Given the description of an element on the screen output the (x, y) to click on. 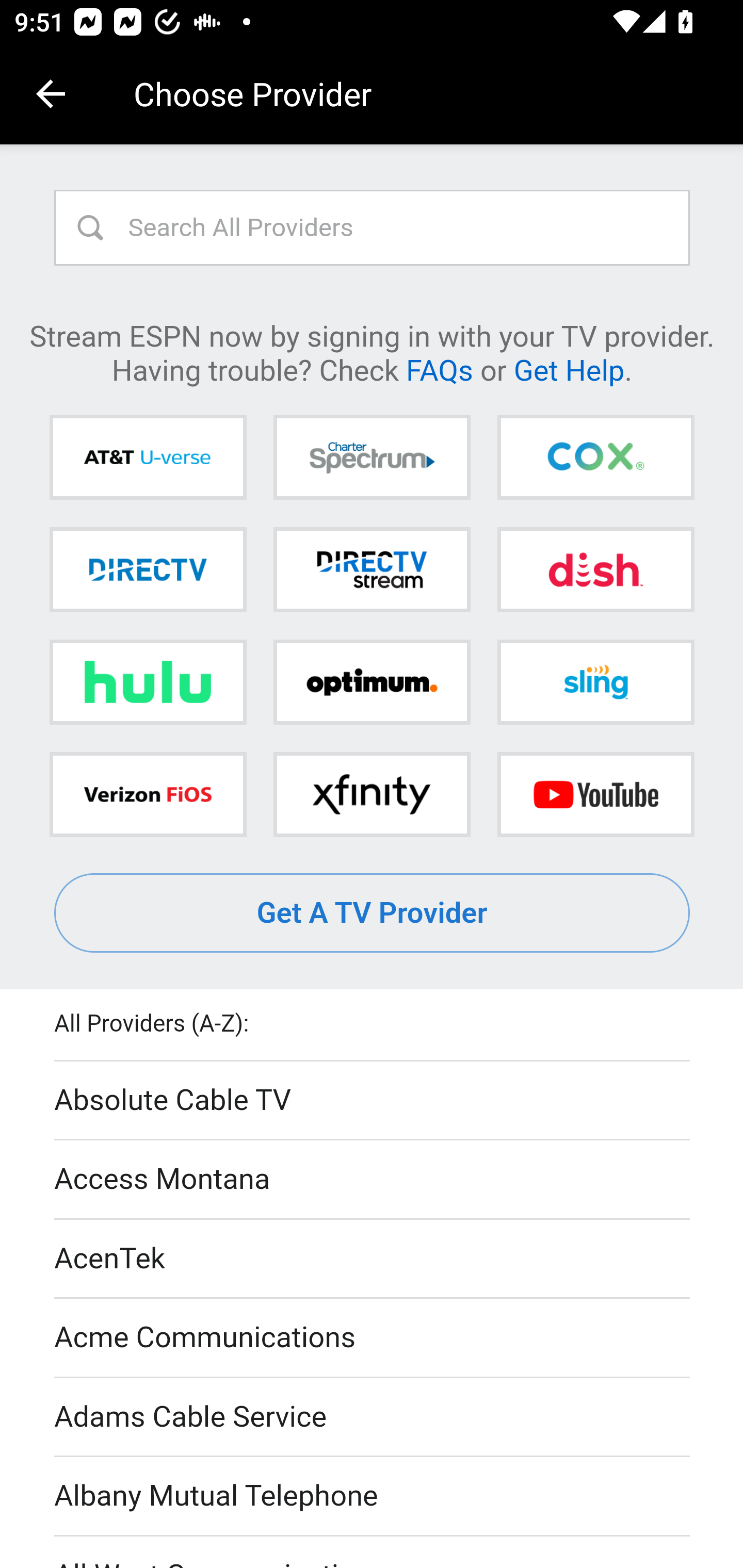
Navigate up (50, 93)
FAQs (438, 369)
Get Help (569, 369)
AT&T U-verse (147, 457)
Charter Spectrum (371, 457)
Cox (595, 457)
DIRECTV (147, 568)
DIRECTV STREAM (371, 568)
DISH (595, 568)
Hulu (147, 681)
Optimum (371, 681)
Sling TV (595, 681)
Verizon FiOS (147, 793)
Xfinity (371, 793)
YouTube TV (595, 793)
Get A TV Provider (372, 912)
Absolute Cable TV (372, 1100)
Access Montana (372, 1178)
AcenTek (372, 1258)
Acme Communications (372, 1338)
Adams Cable Service (372, 1417)
Albany Mutual Telephone (372, 1497)
